Given the description of an element on the screen output the (x, y) to click on. 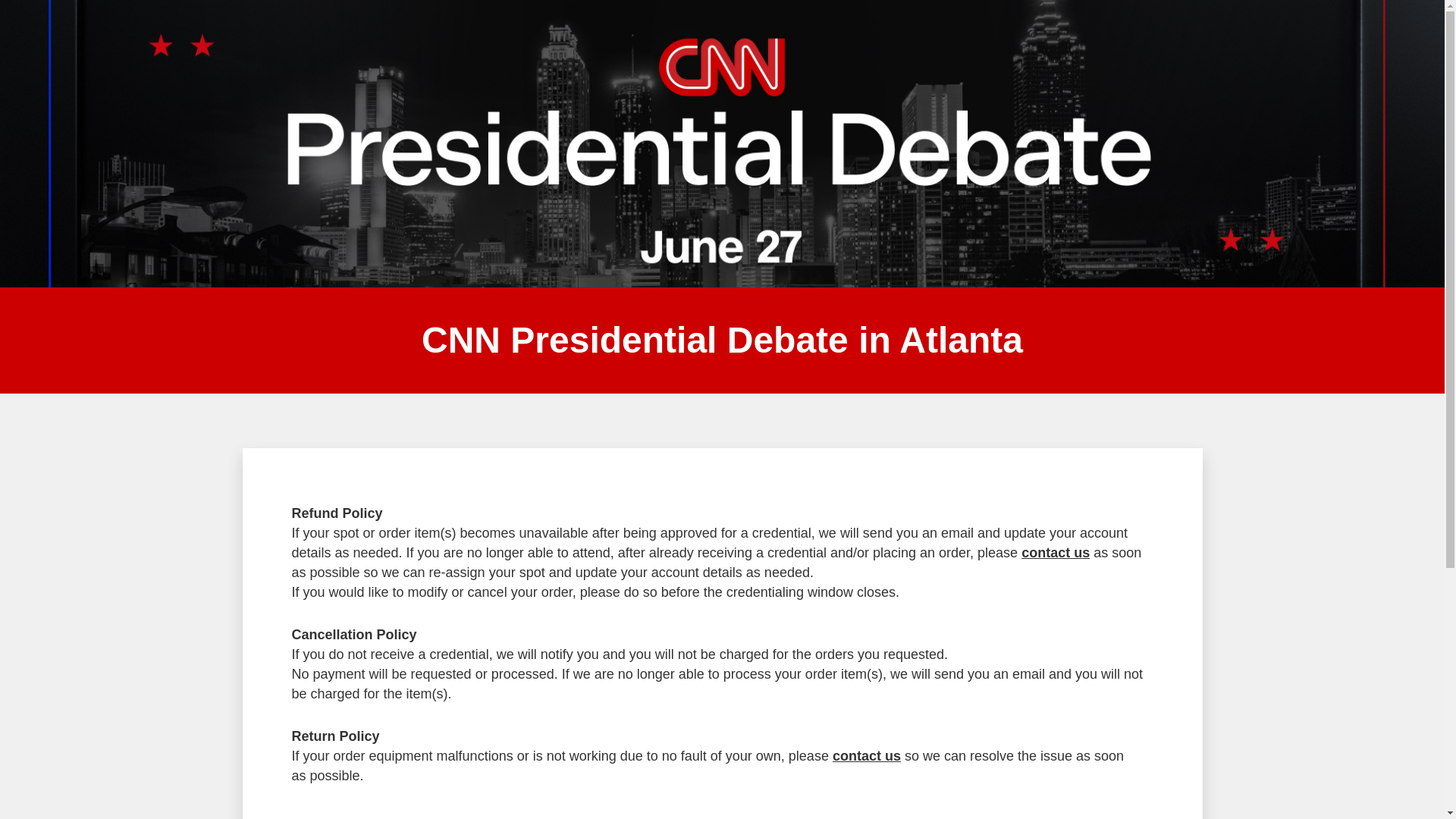
contact us (1055, 552)
contact us (866, 755)
